Given the description of an element on the screen output the (x, y) to click on. 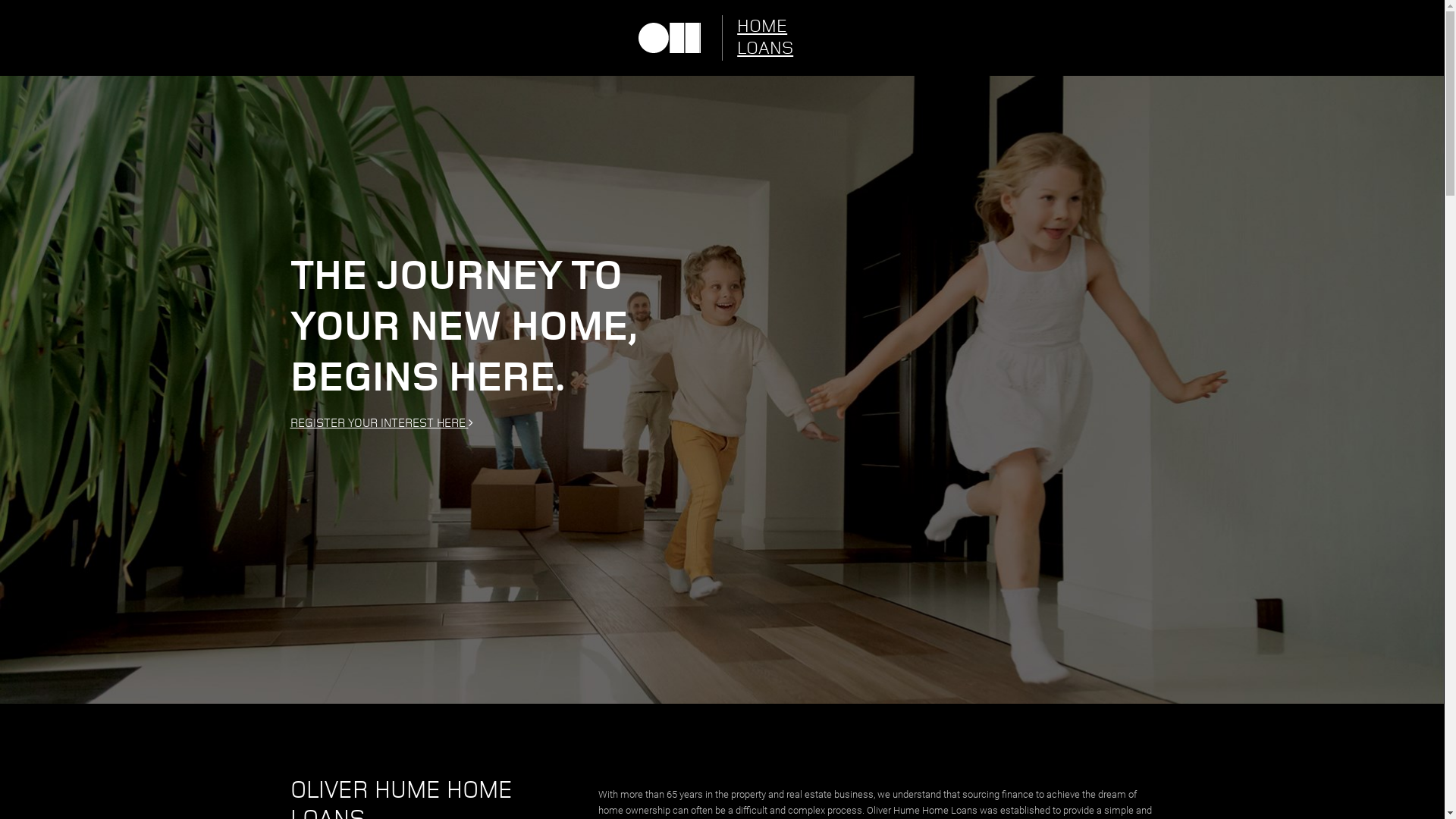
HOME LOANS Element type: text (774, 37)
REGISTER YOUR INTEREST HERE Element type: text (721, 423)
